Given the description of an element on the screen output the (x, y) to click on. 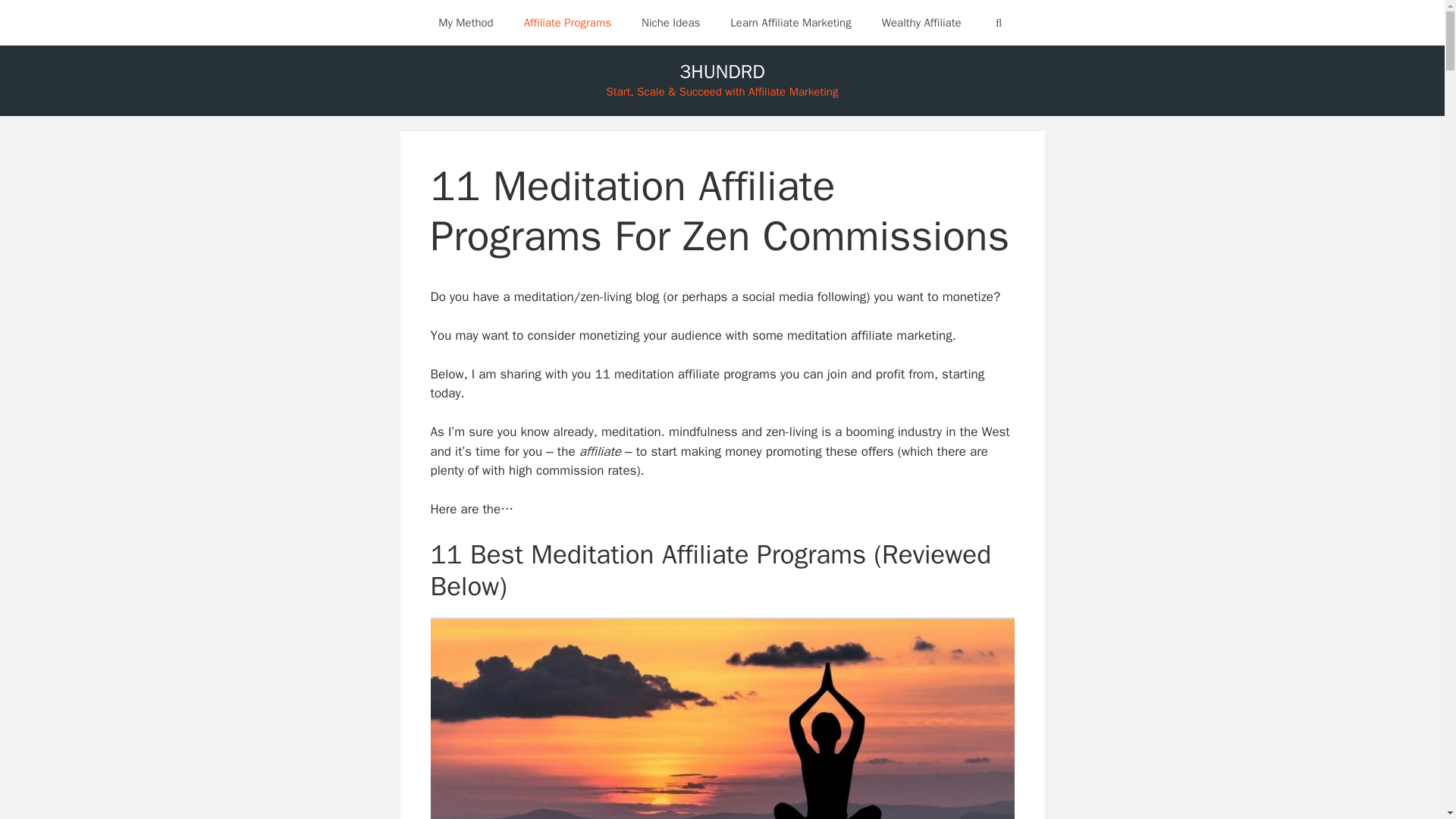
Learn Affiliate Marketing (790, 22)
3HUNDRD (721, 71)
My Method (465, 22)
Affiliate Programs (567, 22)
Niche Ideas (670, 22)
Wealthy Affiliate (921, 22)
